Given the description of an element on the screen output the (x, y) to click on. 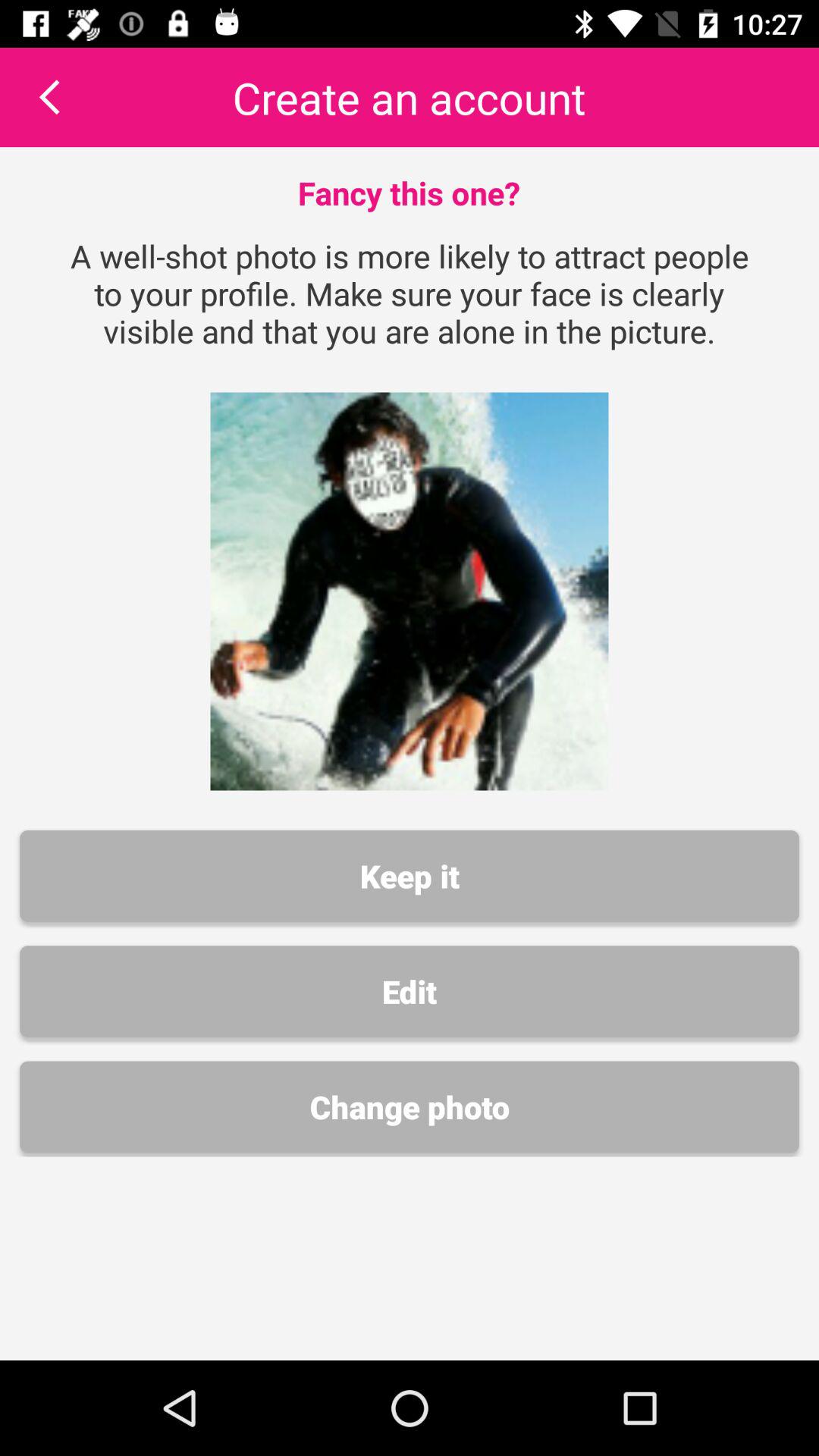
tap button above change photo icon (409, 991)
